Given the description of an element on the screen output the (x, y) to click on. 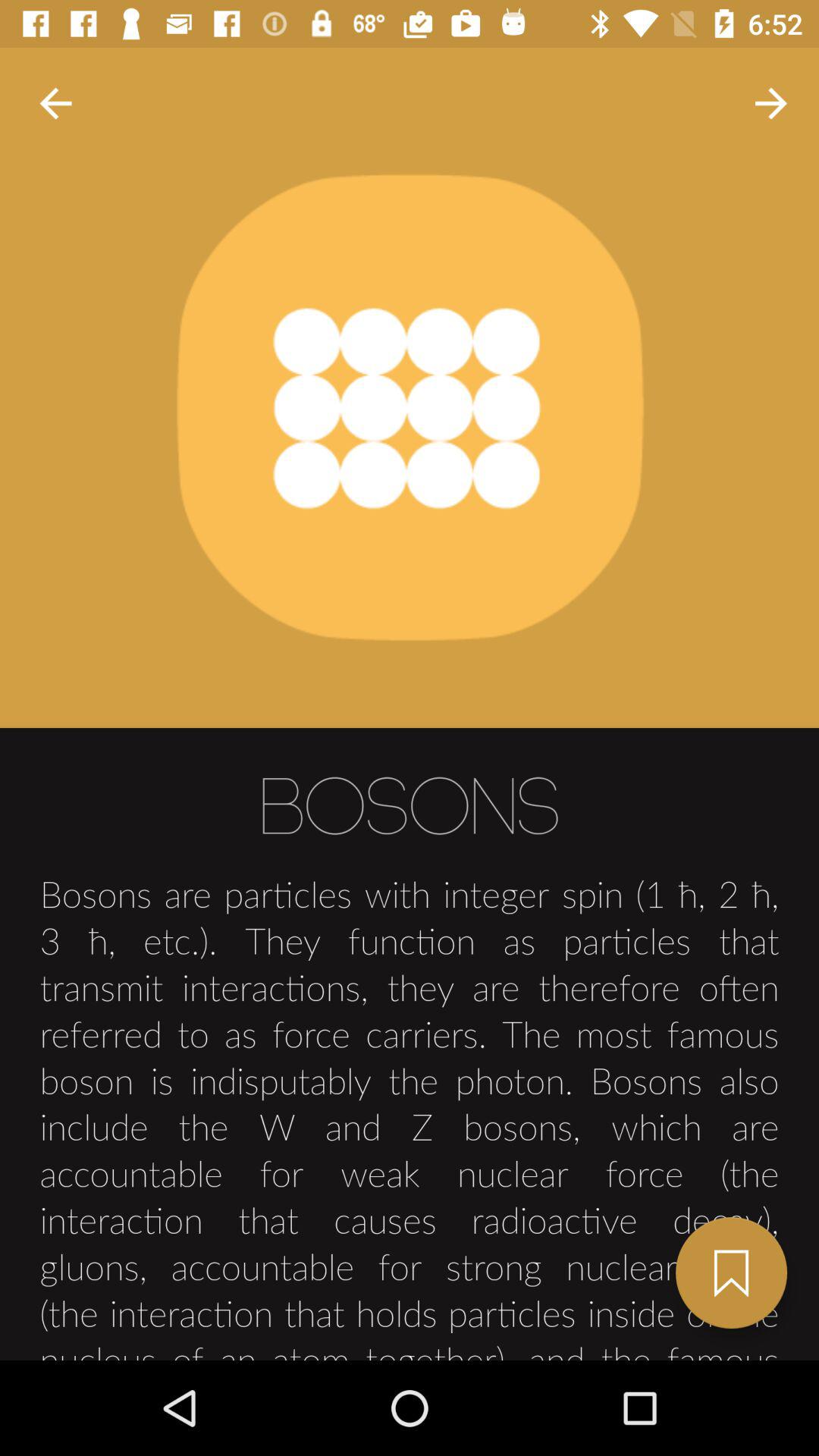
bookmark this page (731, 1272)
